Given the description of an element on the screen output the (x, y) to click on. 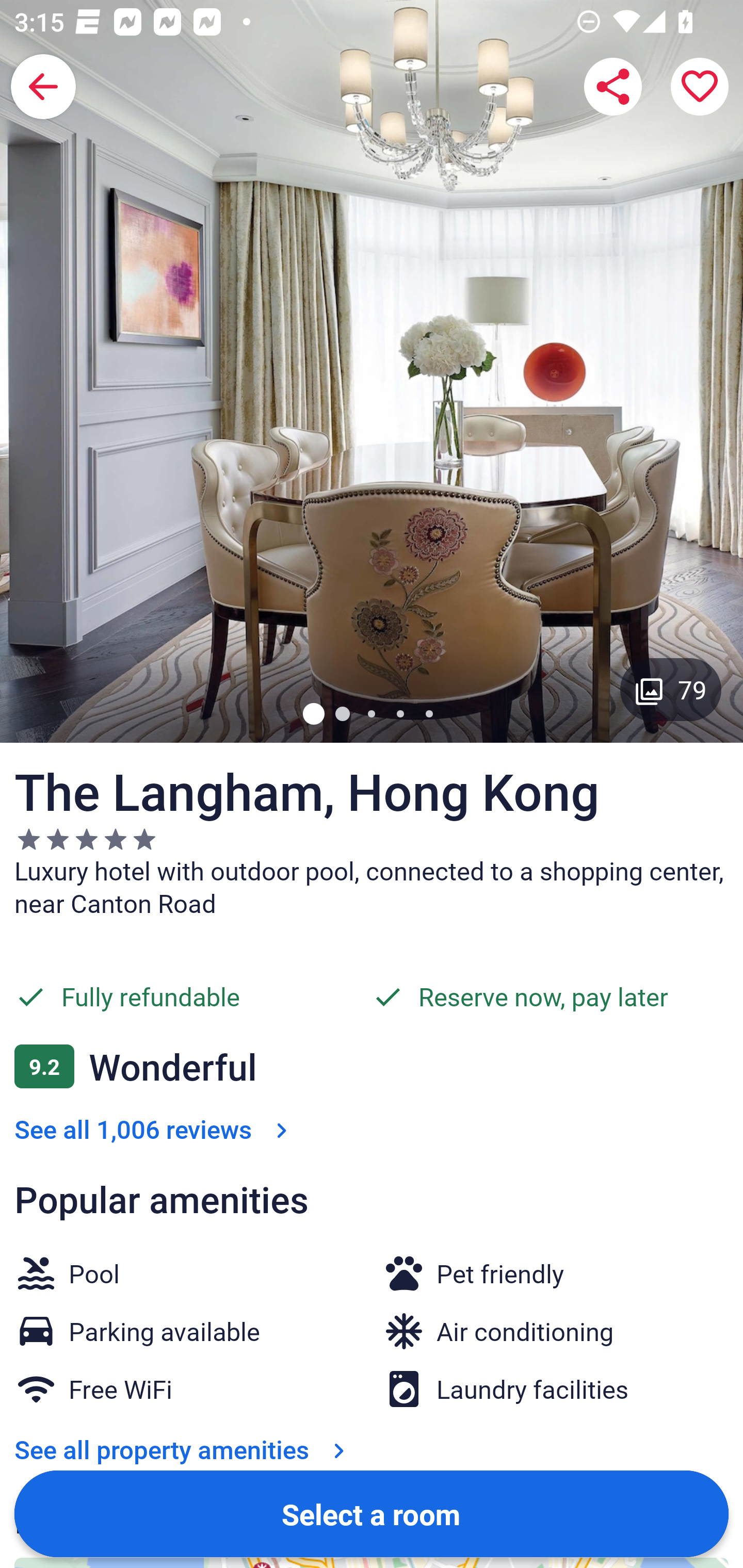
Back (43, 86)
Save property to a trip (699, 86)
Share The Langham, Hong Kong (612, 87)
Gallery button with 79 images (670, 689)
See all 1,006 reviews See all 1,006 reviews Link (154, 1128)
See all property amenities (183, 1449)
Select a room Button Select a room (371, 1513)
